Given the description of an element on the screen output the (x, y) to click on. 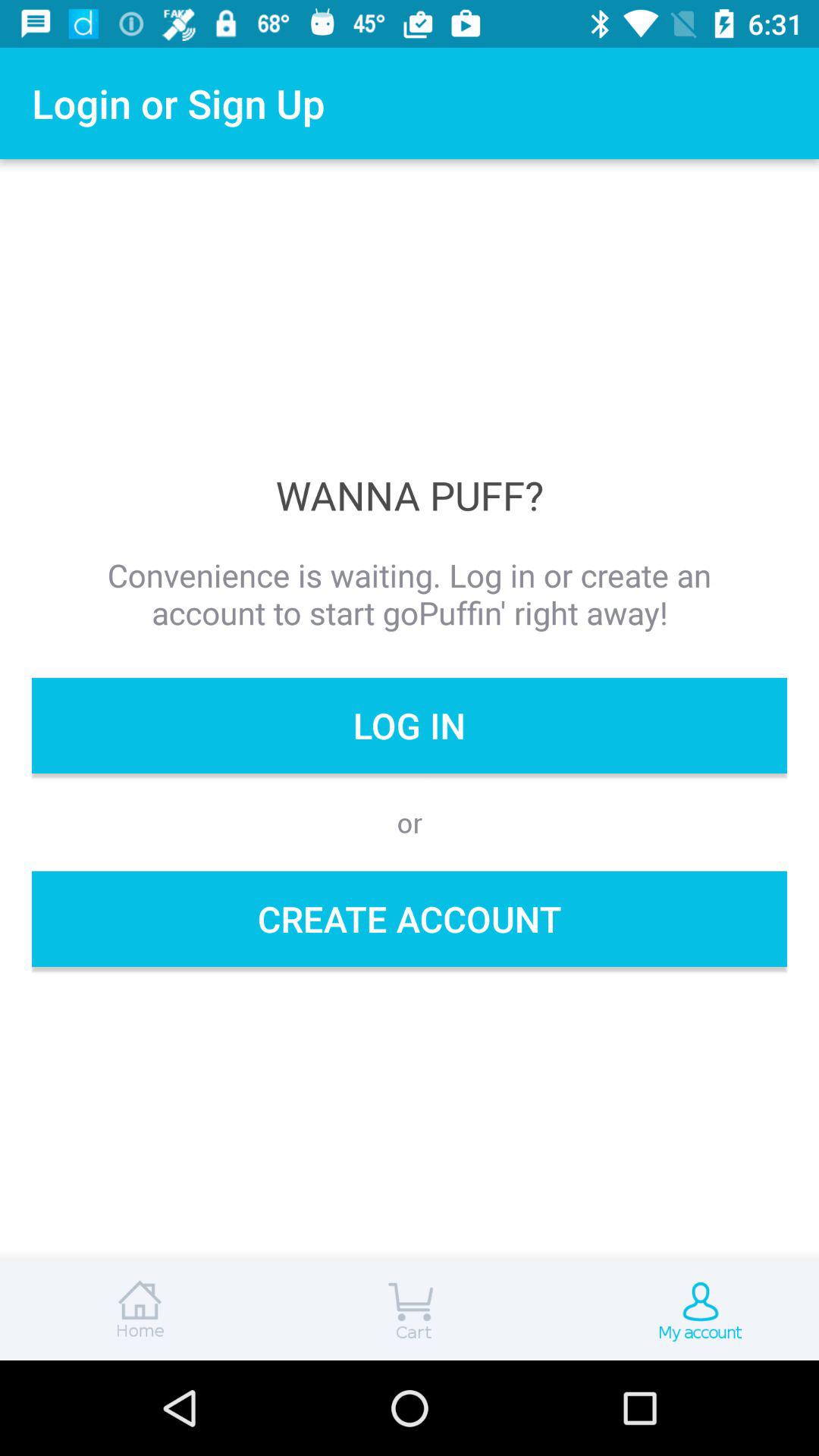
go to my account (682, 1310)
